Given the description of an element on the screen output the (x, y) to click on. 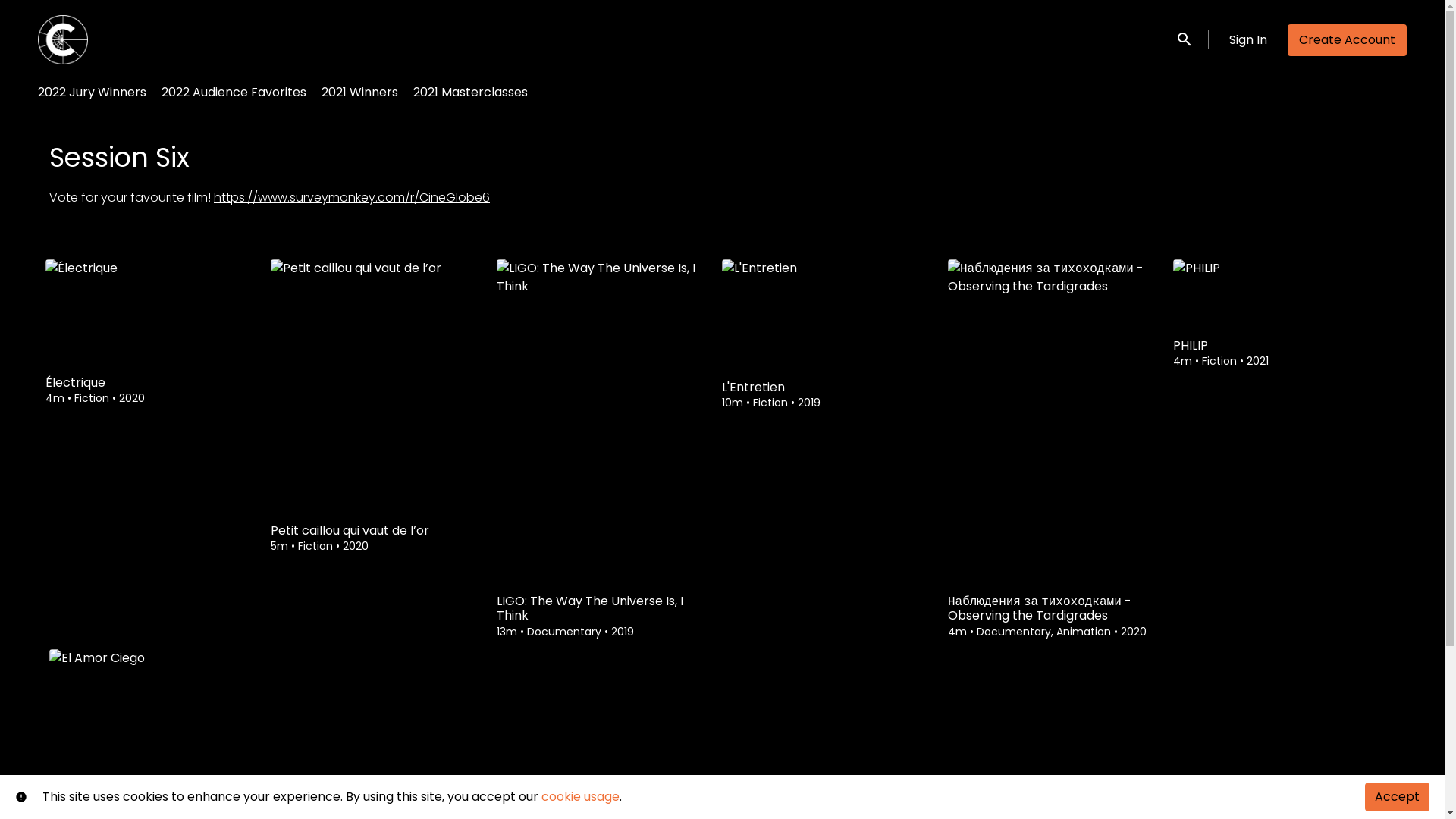
Sign In Element type: text (1247, 40)
Accept Element type: text (1397, 796)
2022 Audience Favorites Element type: text (233, 93)
2022 Jury Winners Element type: text (91, 93)
cookie usage Element type: text (580, 796)
https://www.surveymonkey.com/r/CineGlobe6 Element type: text (351, 197)
2021 Masterclasses Element type: text (470, 93)
2021 Winners Element type: text (359, 93)
Submit search Element type: text (1170, 39)
Create Account Element type: text (1346, 40)
